Given the description of an element on the screen output the (x, y) to click on. 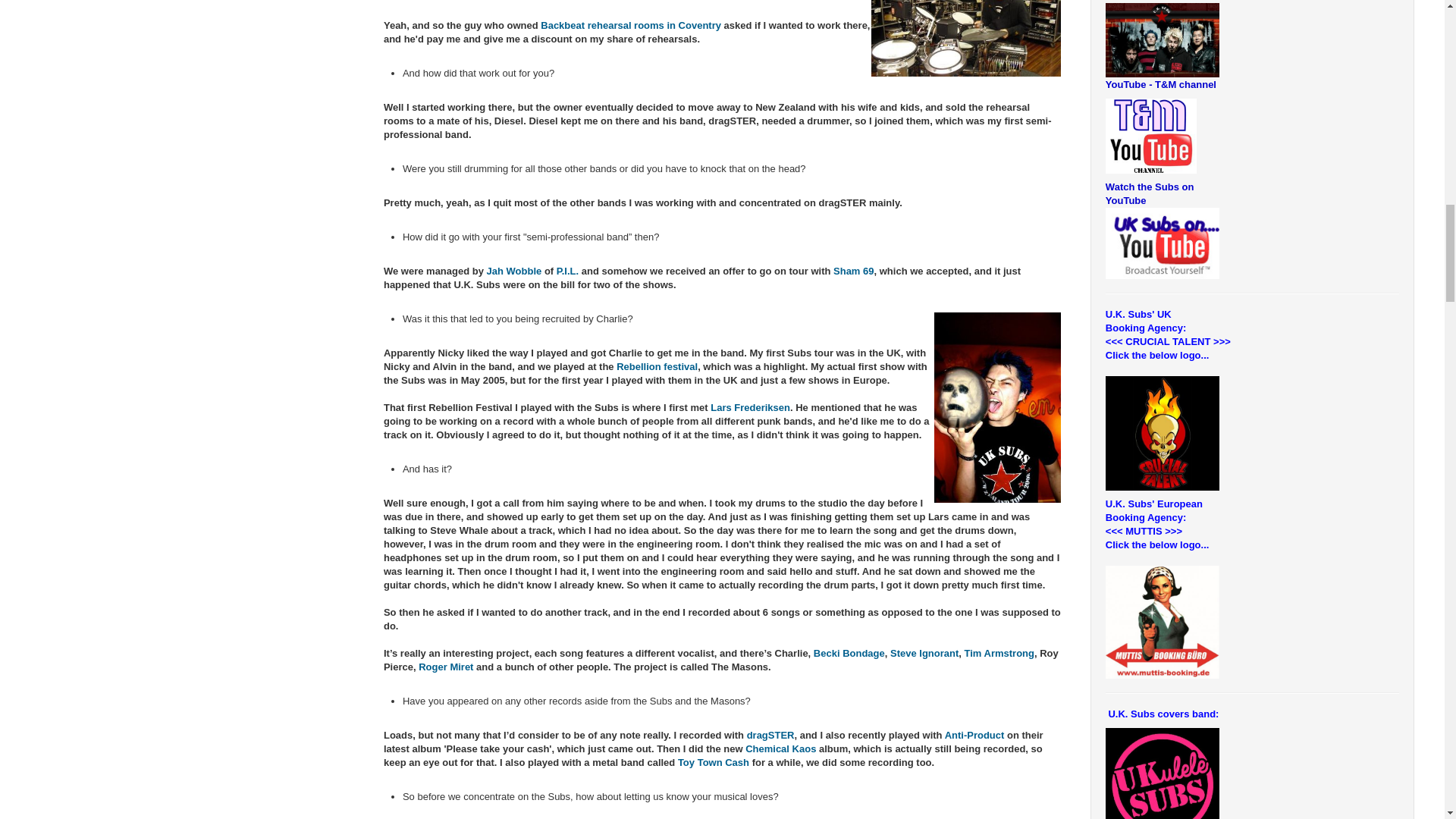
Jamie in heaven! Click   to enlarge (965, 38)
